Given the description of an element on the screen output the (x, y) to click on. 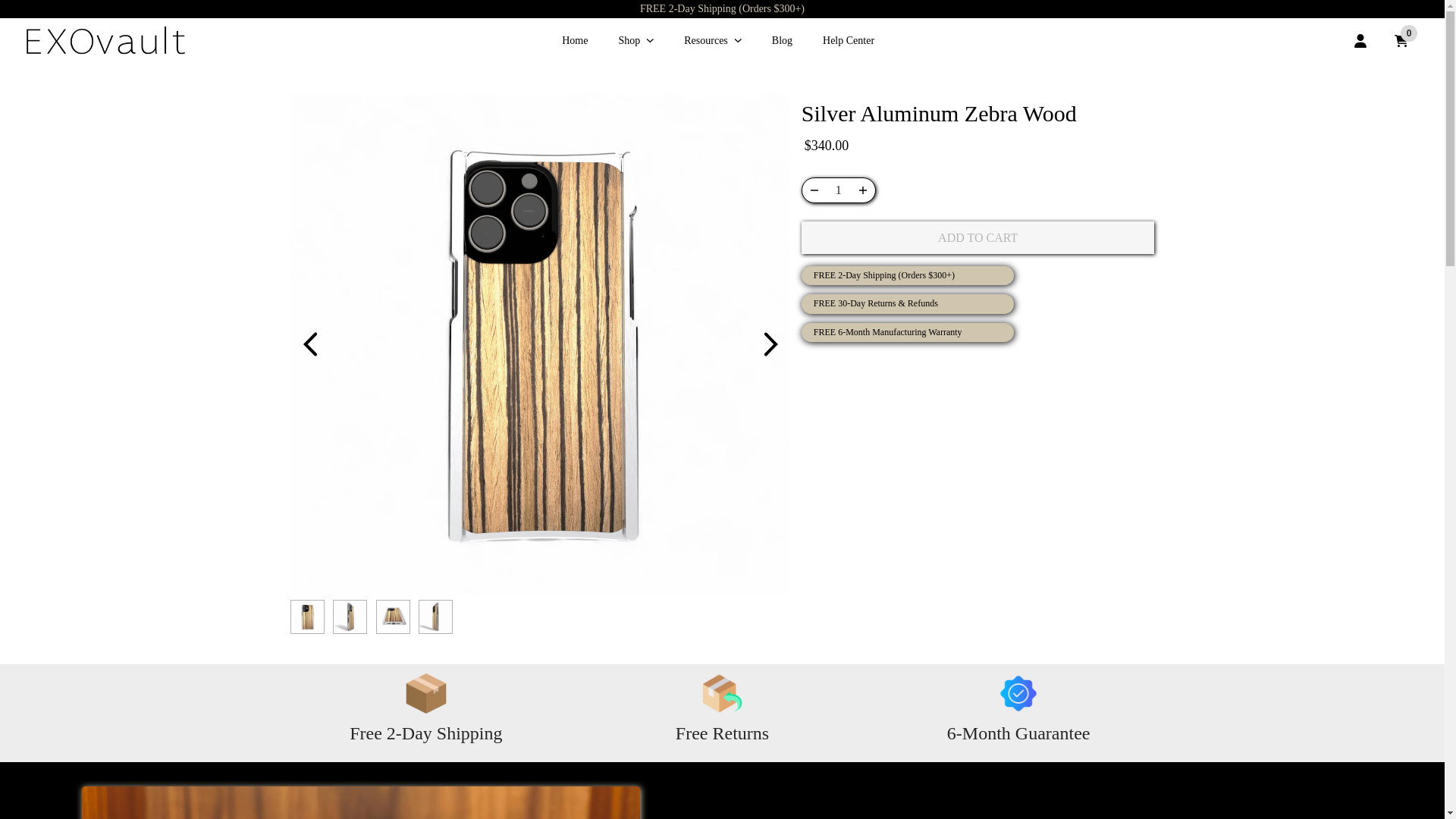
1 (838, 190)
ADD TO CART (978, 237)
Blog (782, 41)
Go to the next slide (770, 344)
Go to the next slide Next (770, 344)
Shop (635, 41)
Shop (635, 41)
Resources (712, 41)
Blog (782, 41)
Go to the previous slide (309, 344)
